Given the description of an element on the screen output the (x, y) to click on. 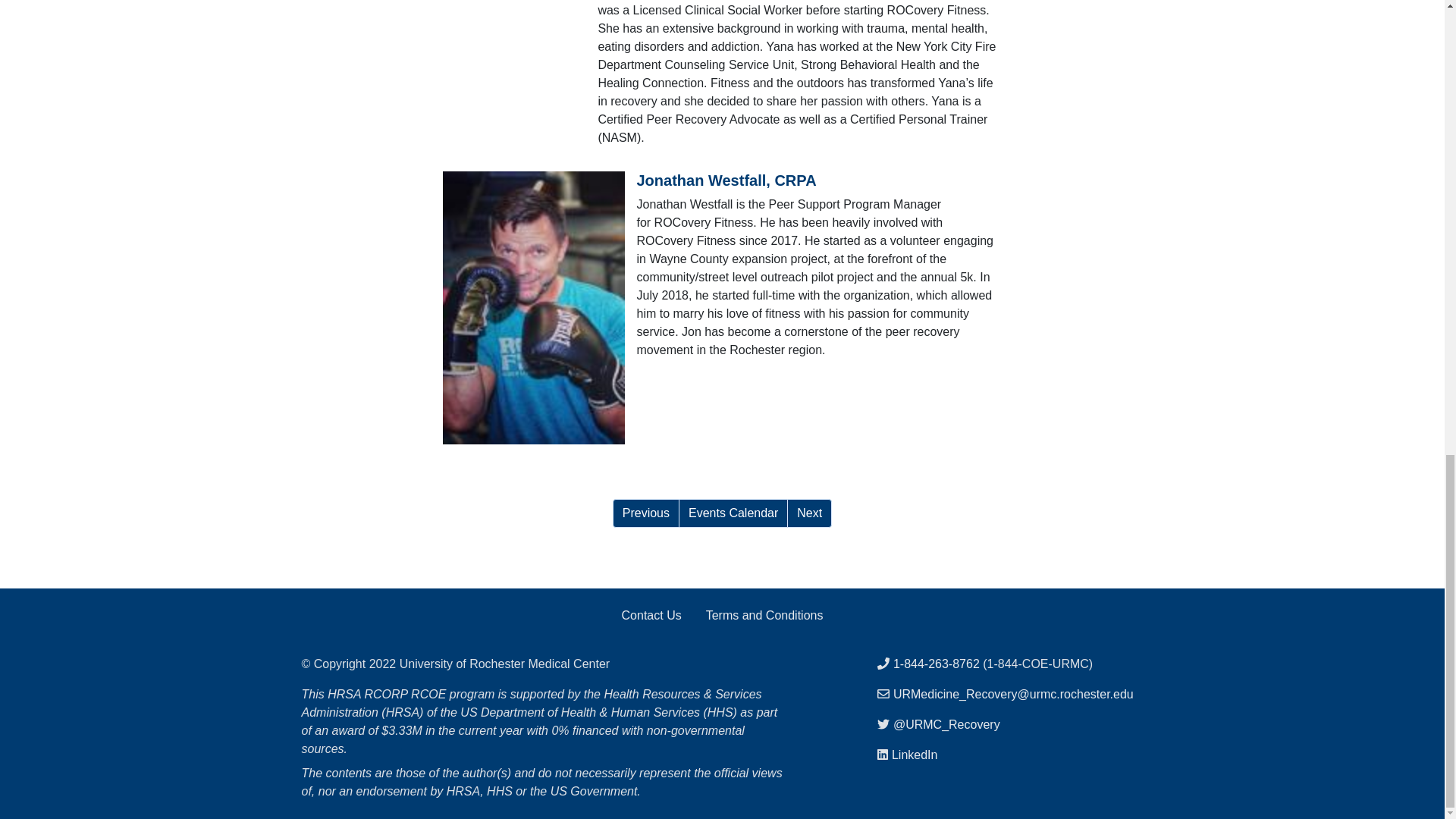
Events Calendar (732, 512)
1-844-263-8762 (936, 663)
Terms and Conditions (764, 615)
find UR Medical Rcovery Center of Excellence on LinkedIn (914, 754)
Contact Us (652, 615)
Jonathan Westfall, CRPA (726, 180)
Previous (645, 512)
find UR Medical Rcovery Center of Excellence on Twitter (946, 724)
